Given the description of an element on the screen output the (x, y) to click on. 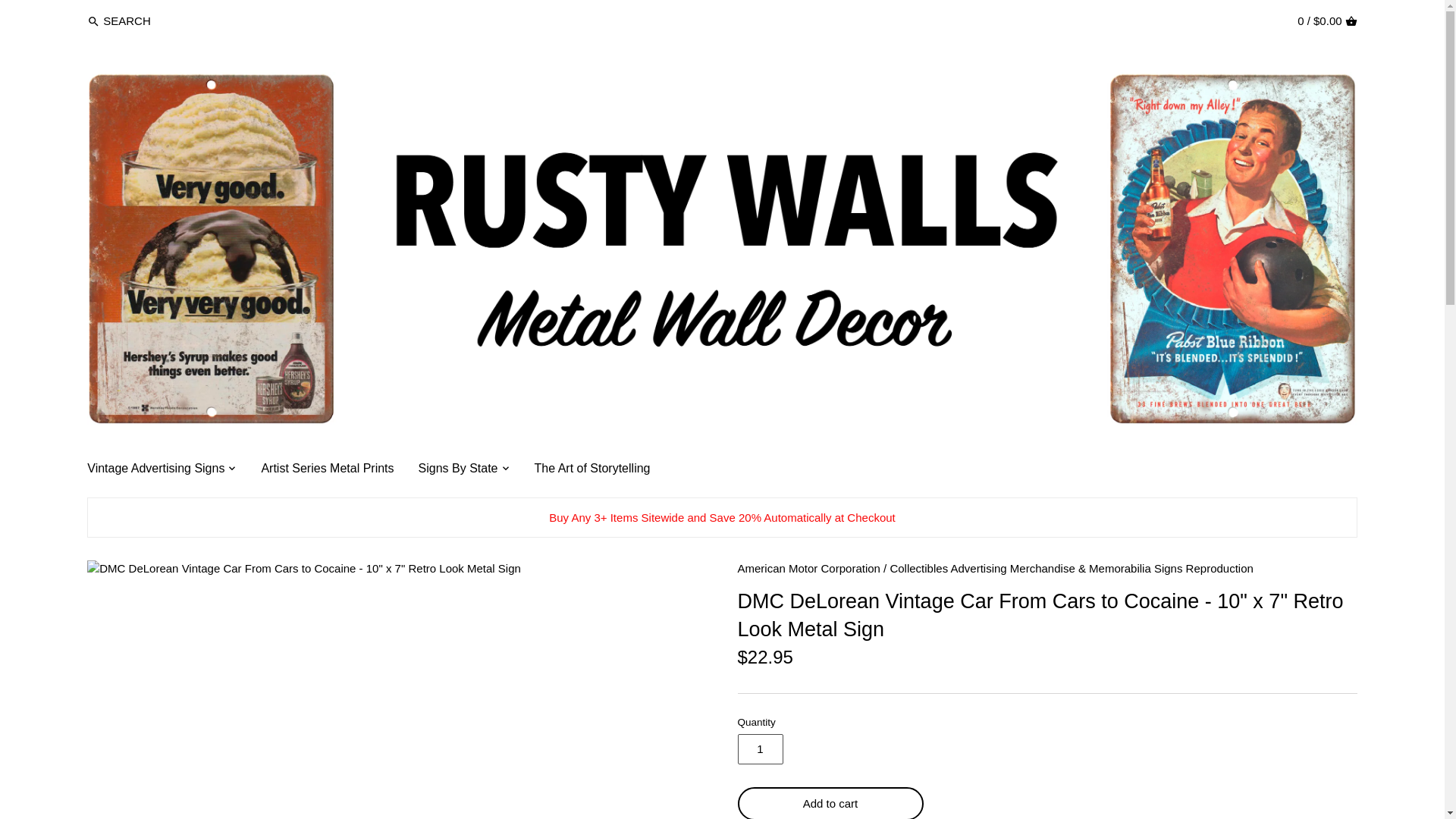
CART (1350, 21)
Vintage Advertising Signs (161, 470)
Search (93, 21)
Search (93, 21)
1 (759, 748)
